Given the description of an element on the screen output the (x, y) to click on. 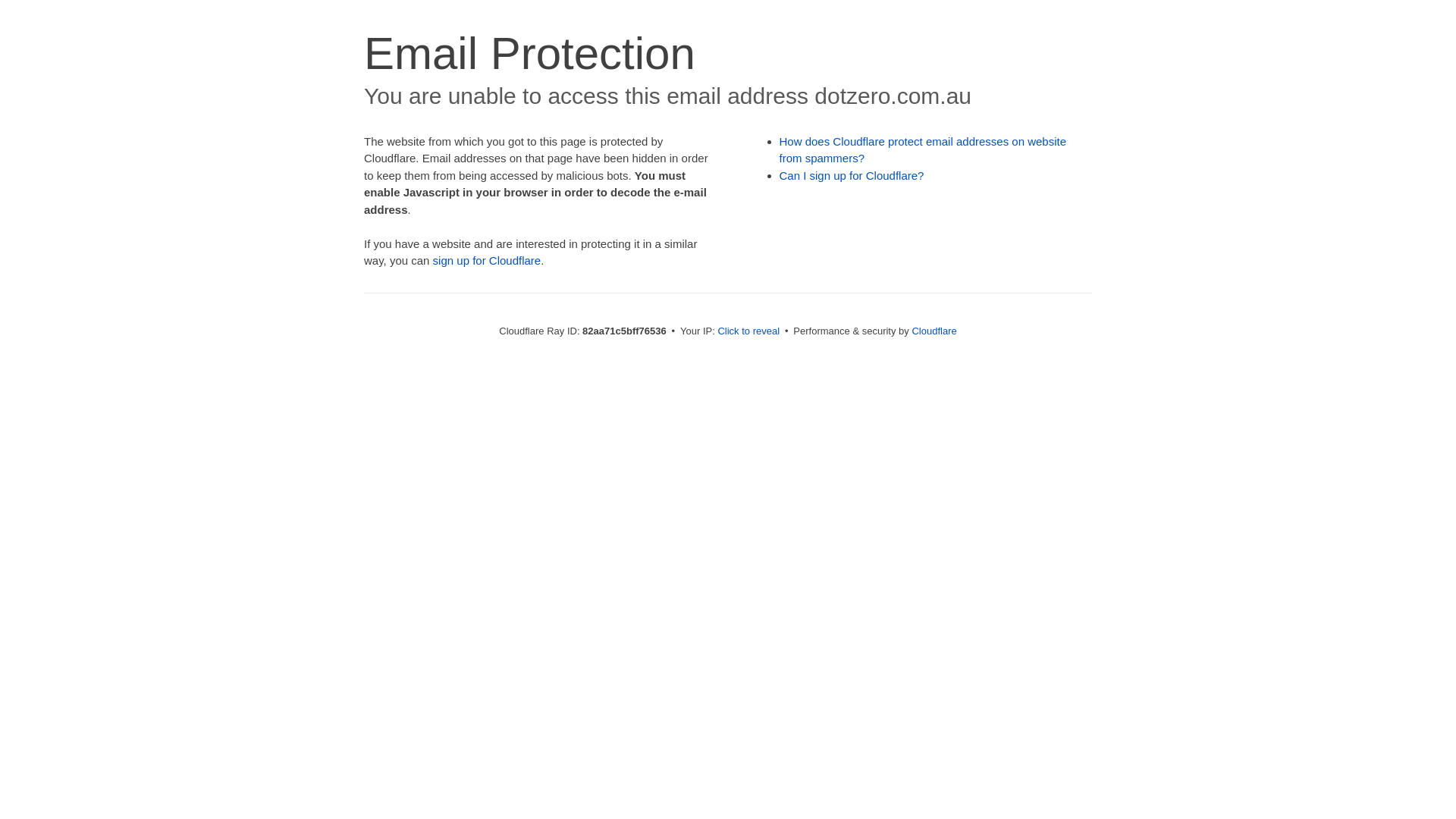
Cloudflare Element type: text (933, 330)
sign up for Cloudflare Element type: text (487, 260)
Click to reveal Element type: text (748, 330)
Can I sign up for Cloudflare? Element type: text (851, 175)
